Given the description of an element on the screen output the (x, y) to click on. 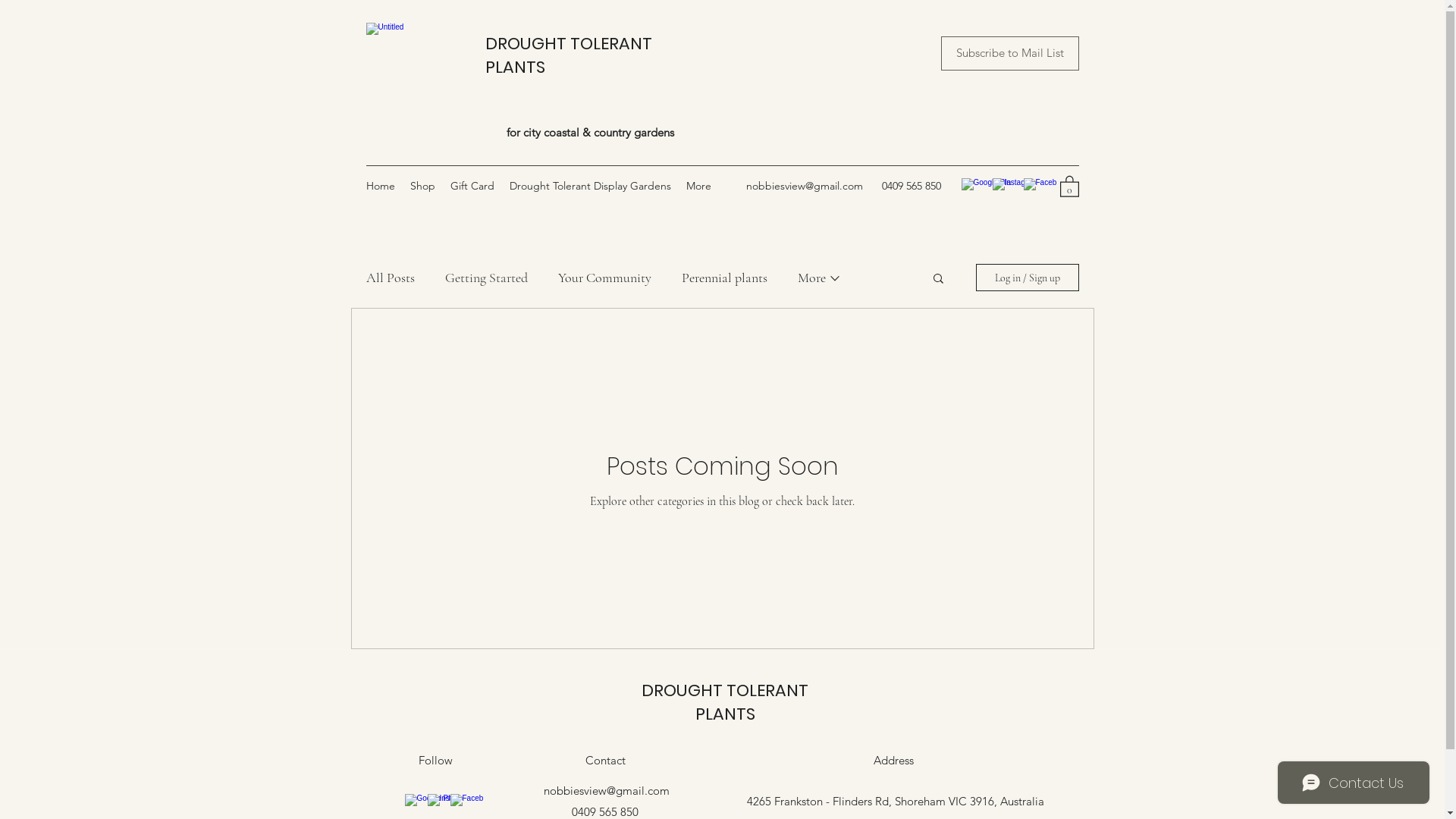
Drought Tolerant Display Gardens Element type: text (590, 185)
DROUGHT TOLERANT PLANTS Element type: text (568, 54)
Gift Card Element type: text (472, 185)
0 Element type: text (1069, 185)
Log in / Sign up Element type: text (1026, 277)
nobbiesview@gmail.com Element type: text (605, 790)
Home Element type: text (379, 185)
Perennial plants Element type: text (723, 277)
Your Community Element type: text (604, 277)
Subscribe to Mail List Element type: text (1009, 53)
Getting Started Element type: text (485, 277)
nobbiesview@gmail.com Element type: text (804, 185)
DROUGHT TOLERANT PLANTS Element type: text (724, 701)
Shop Element type: text (421, 185)
All Posts Element type: text (389, 277)
